Given the description of an element on the screen output the (x, y) to click on. 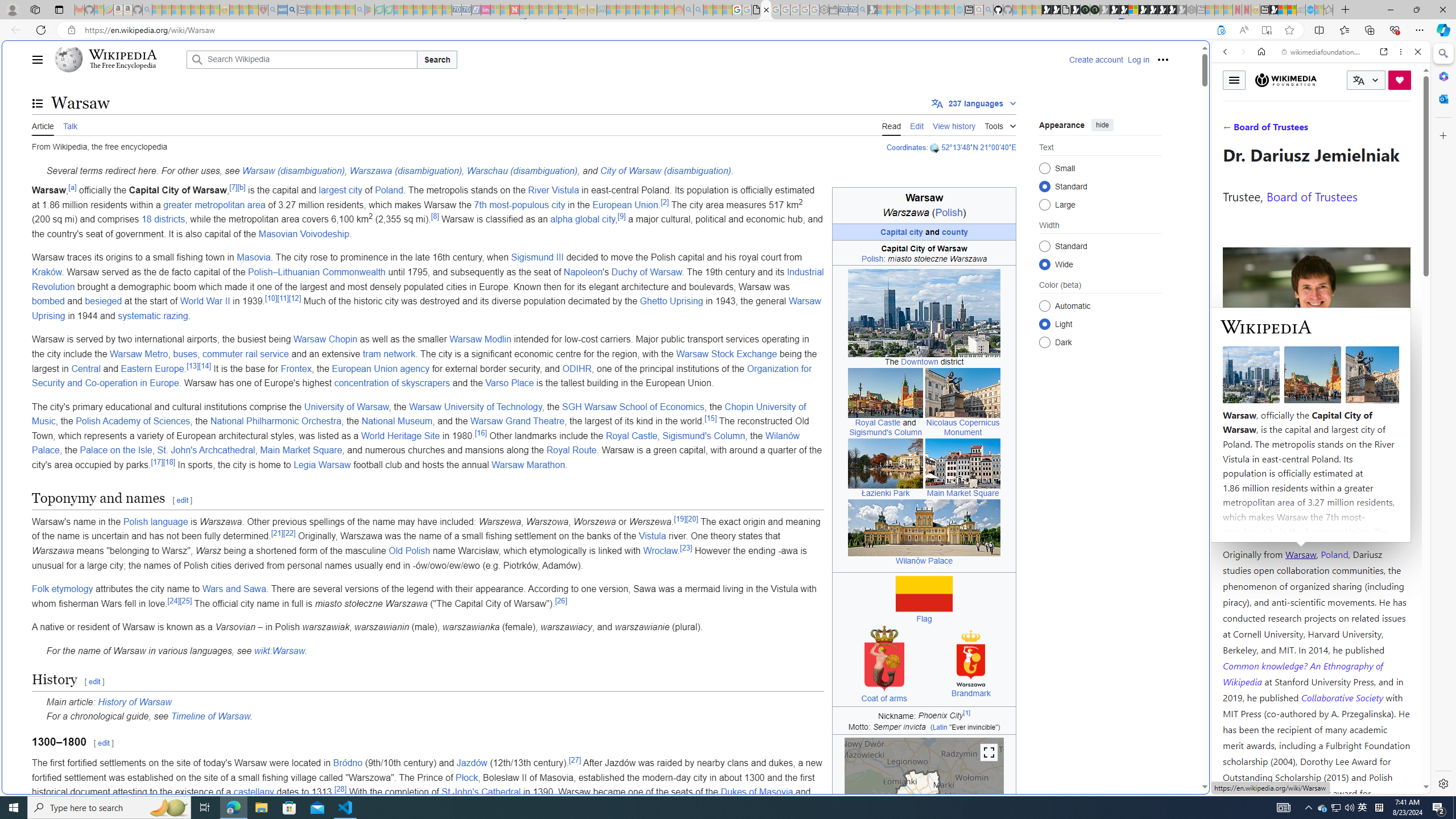
Edit (917, 124)
Polish language (154, 521)
[b] (241, 186)
Common knowledge? An Ethnography of Wikipedia (1302, 672)
Warschau (disambiguation) (521, 171)
